Given the description of an element on the screen output the (x, y) to click on. 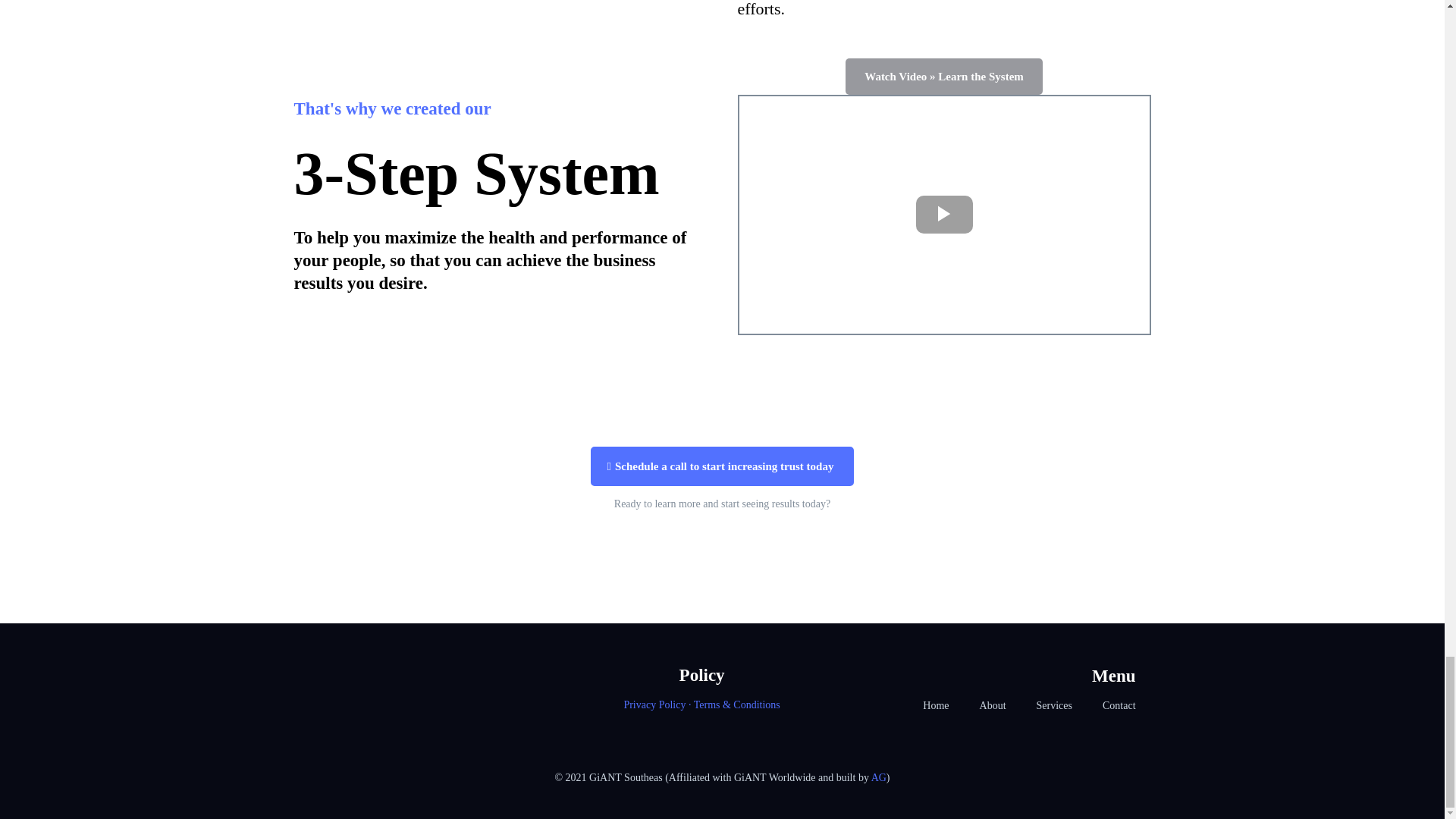
Services (1054, 706)
Contact (1119, 706)
Home (935, 706)
Schedule a call to start increasing trust today (722, 466)
AG (878, 777)
About (992, 706)
